Given the description of an element on the screen output the (x, y) to click on. 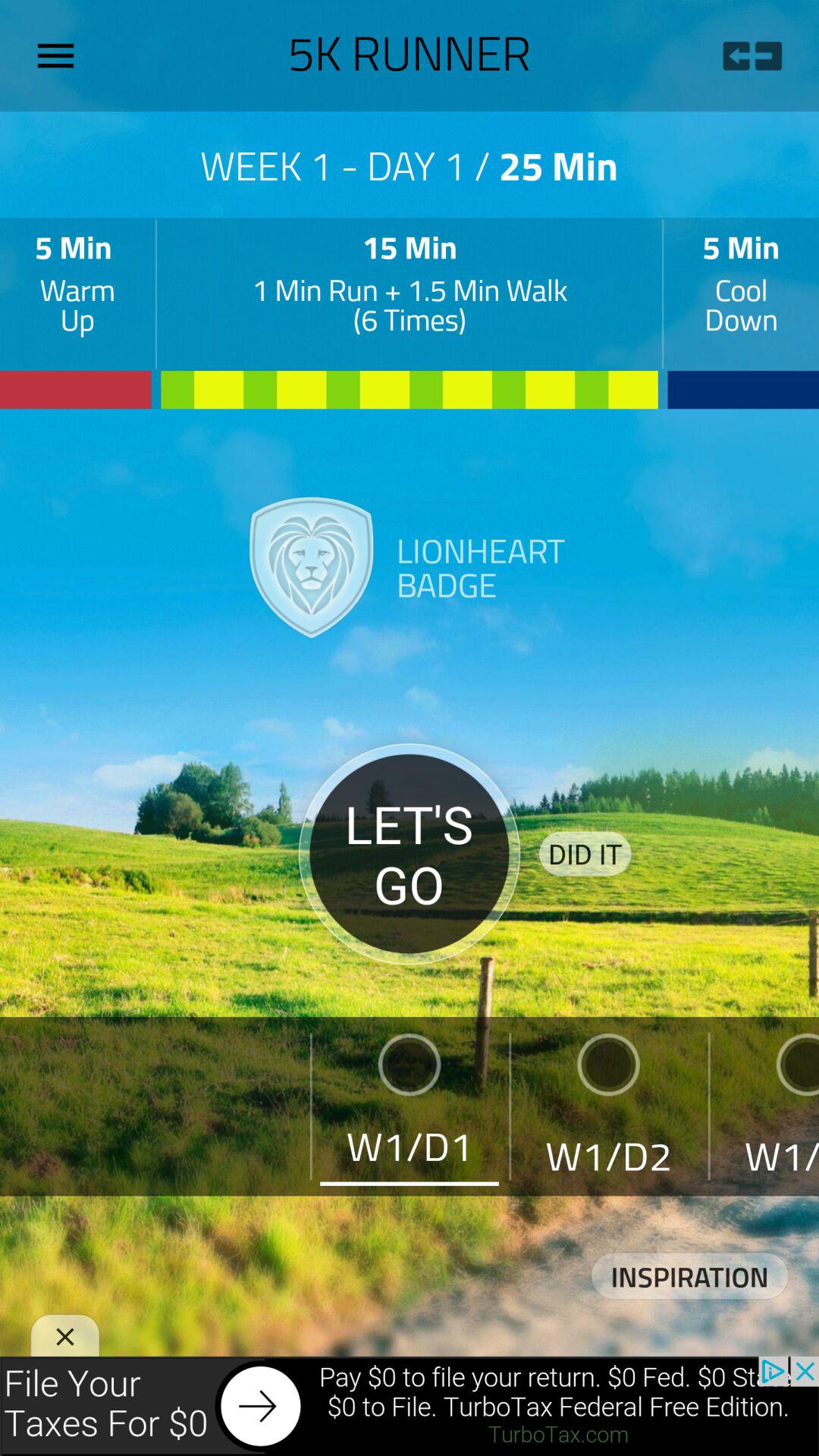
advertisement area (409, 1406)
